Given the description of an element on the screen output the (x, y) to click on. 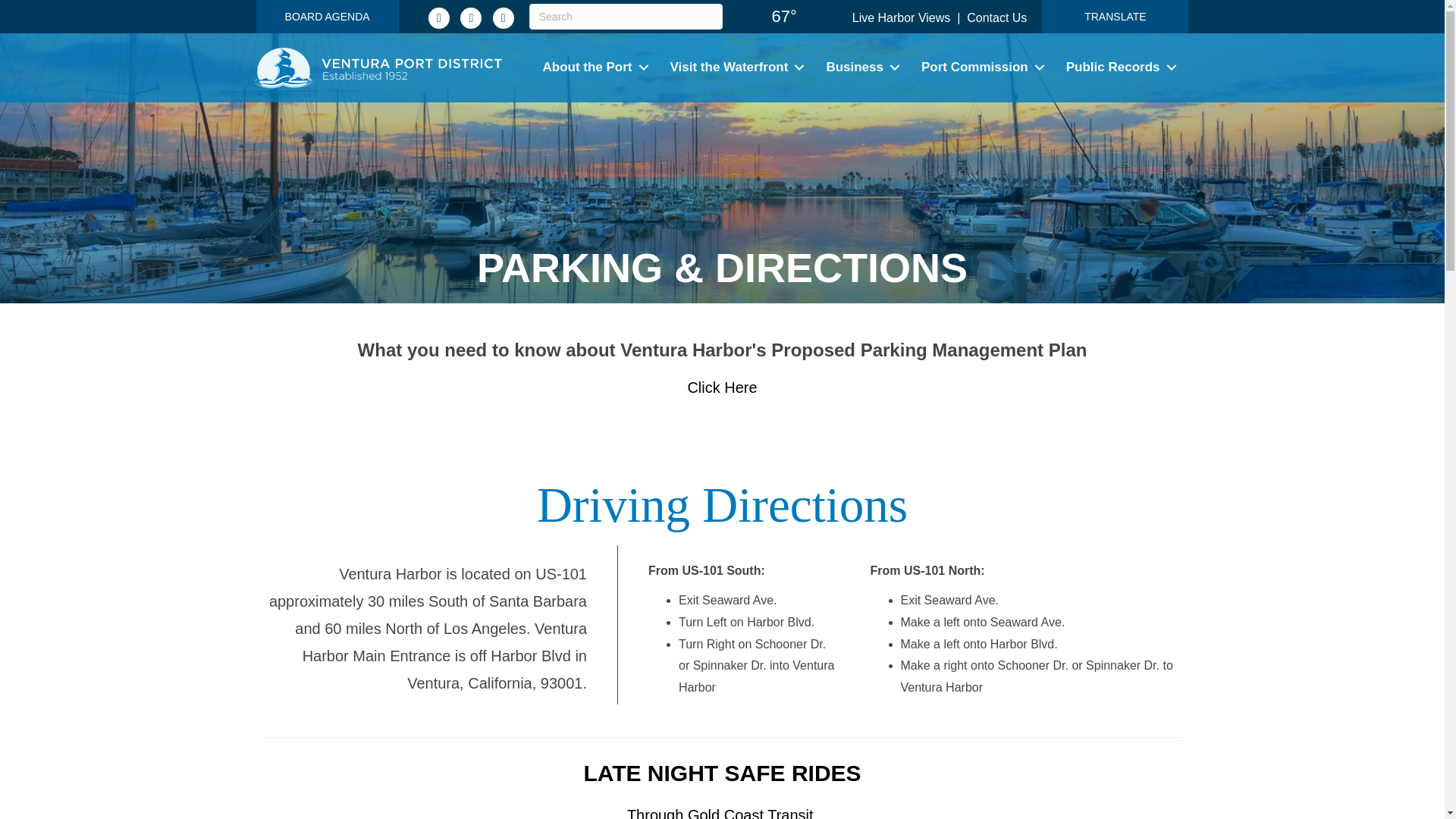
Contact Us (996, 17)
About the Port (596, 67)
TRANSLATE (1115, 16)
BOARD AGENDA (327, 16)
Visit the Waterfront (738, 67)
Type and press Enter to search. (625, 16)
Live Harbor Views (900, 17)
